Given the description of an element on the screen output the (x, y) to click on. 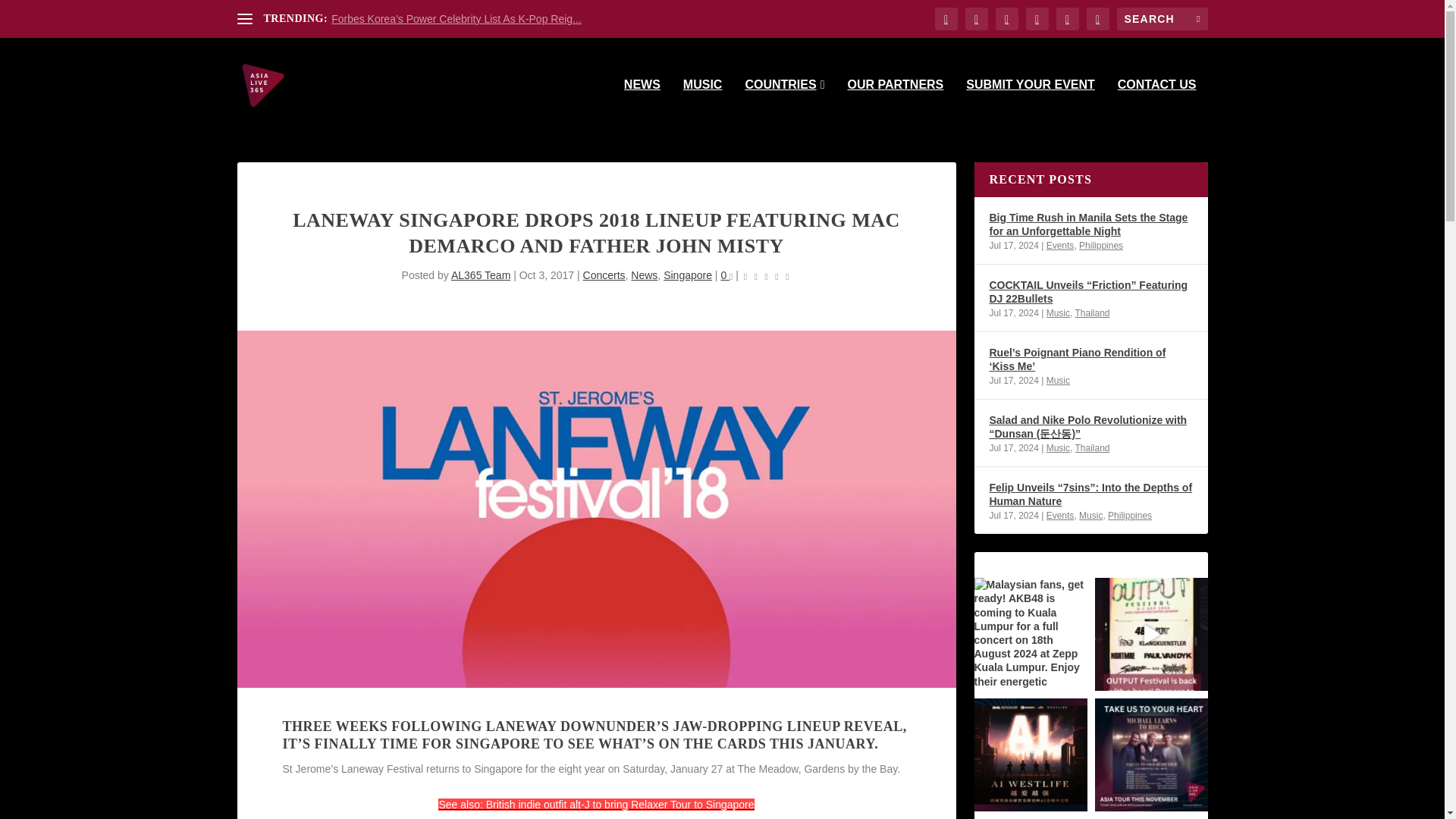
OUR PARTNERS (895, 104)
COUNTRIES (784, 104)
Search for: (1161, 18)
SUBMIT YOUR EVENT (1030, 104)
Rating: 0.00 (766, 275)
Posts by AL365 Team (481, 275)
CONTACT US (1157, 104)
